Given the description of an element on the screen output the (x, y) to click on. 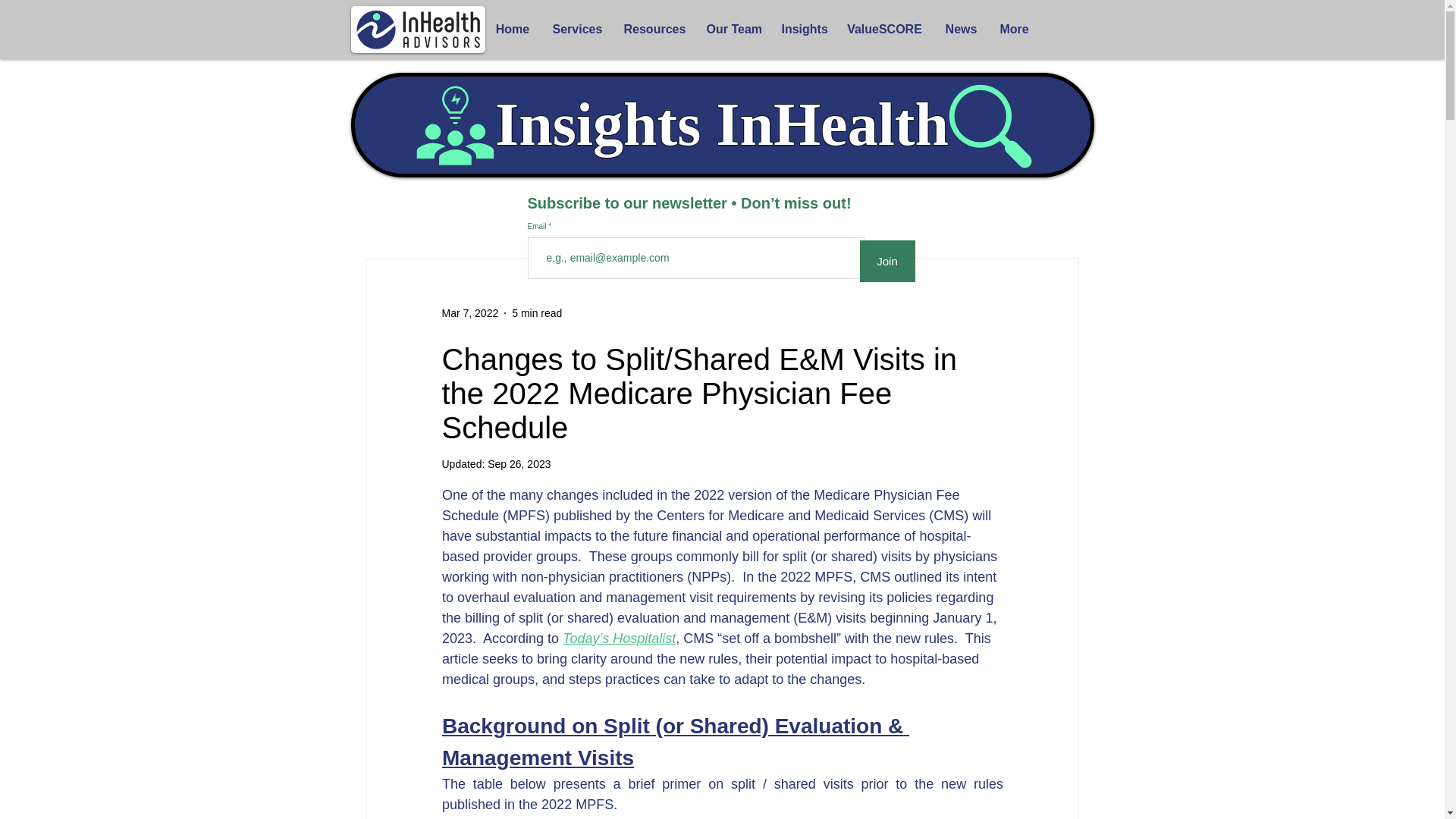
News (961, 29)
ValueSCORE (884, 29)
Mar 7, 2022 (469, 312)
Join (887, 260)
Insights (802, 29)
Home (511, 29)
5 min read (537, 312)
Services (576, 29)
Our Team (732, 29)
Sep 26, 2023 (518, 463)
